Given the description of an element on the screen output the (x, y) to click on. 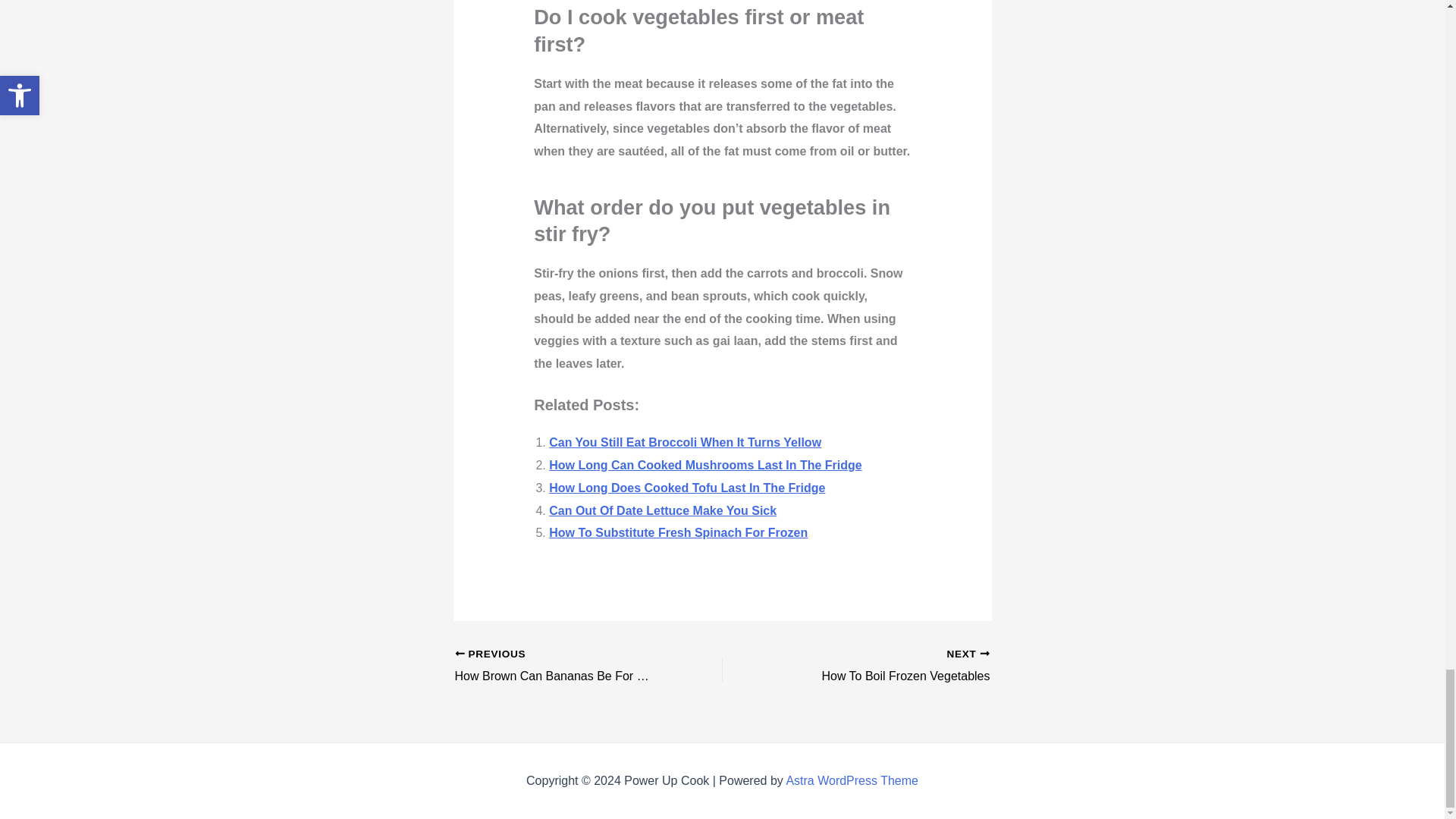
How Long Does Cooked Tofu Last In The Fridge (686, 487)
Can Out Of Date Lettuce Make You Sick (662, 510)
How Long Can Cooked Mushrooms Last In The Fridge (704, 464)
Can You Still Eat Broccoli When It Turns Yellow (684, 441)
